Given the description of an element on the screen output the (x, y) to click on. 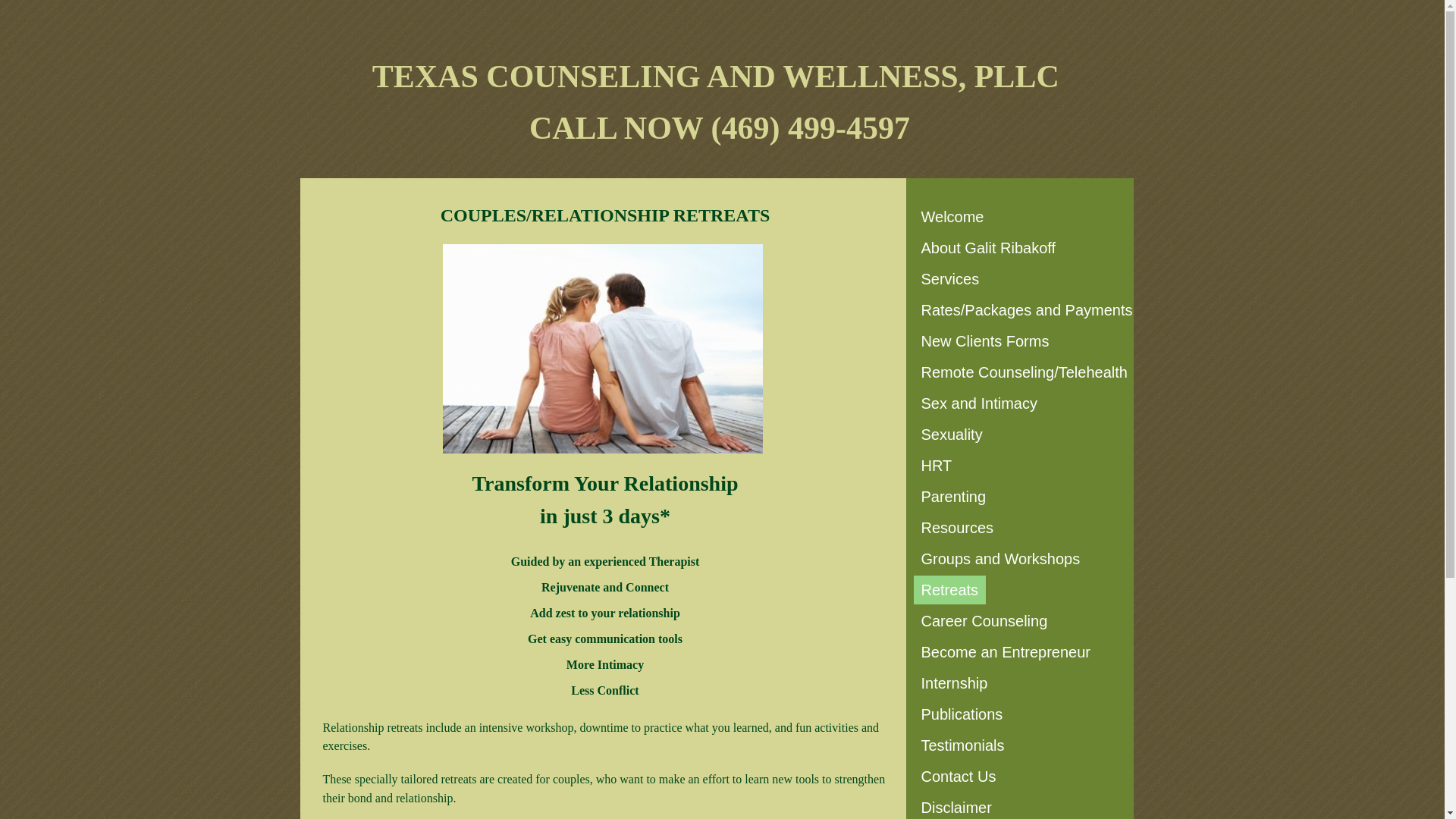
Welcome (951, 216)
Contact Us (957, 776)
Career Counseling (983, 620)
Groups and Workshops (999, 558)
Publications (961, 714)
Parenting (952, 496)
Sex and Intimacy (977, 403)
HRT (935, 465)
New Clients Forms (984, 340)
About Galit Ribakoff (987, 247)
